Given the description of an element on the screen output the (x, y) to click on. 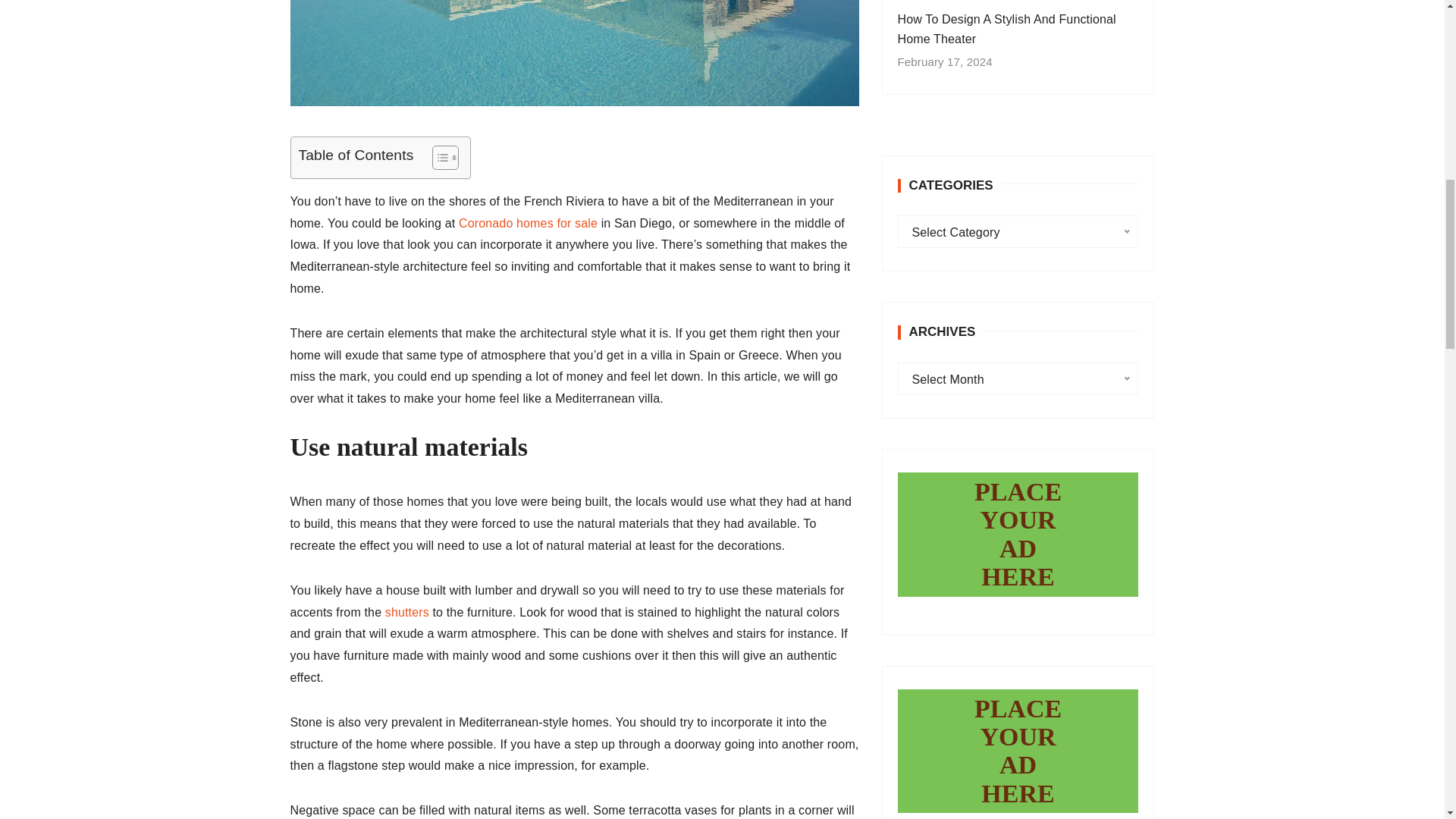
shutters (407, 612)
Coronado homes for sale (527, 223)
